Given the description of an element on the screen output the (x, y) to click on. 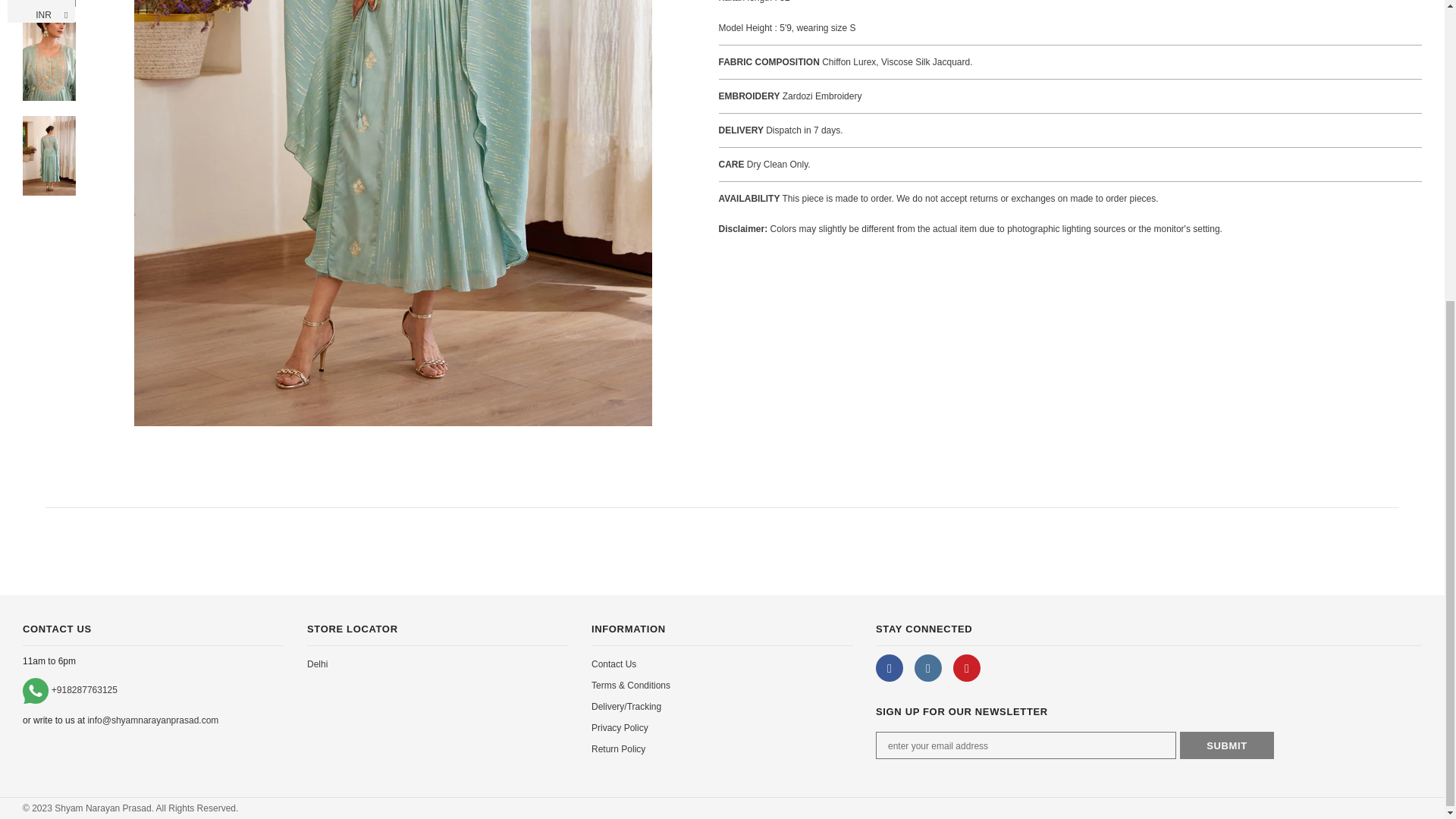
Submit (1226, 745)
